Given the description of an element on the screen output the (x, y) to click on. 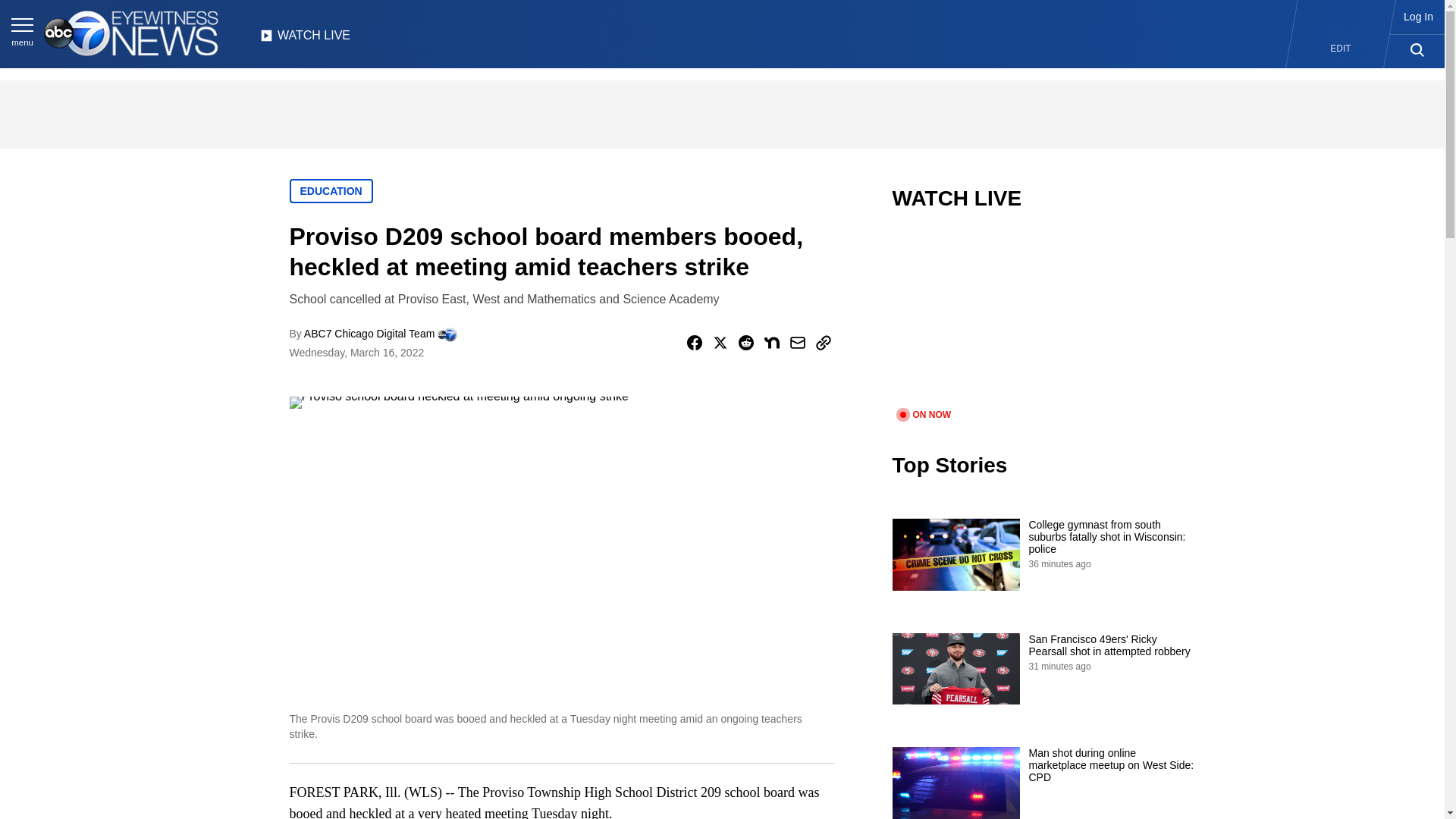
EDIT (1340, 48)
video.title (1043, 318)
WATCH LIVE (305, 39)
